Given the description of an element on the screen output the (x, y) to click on. 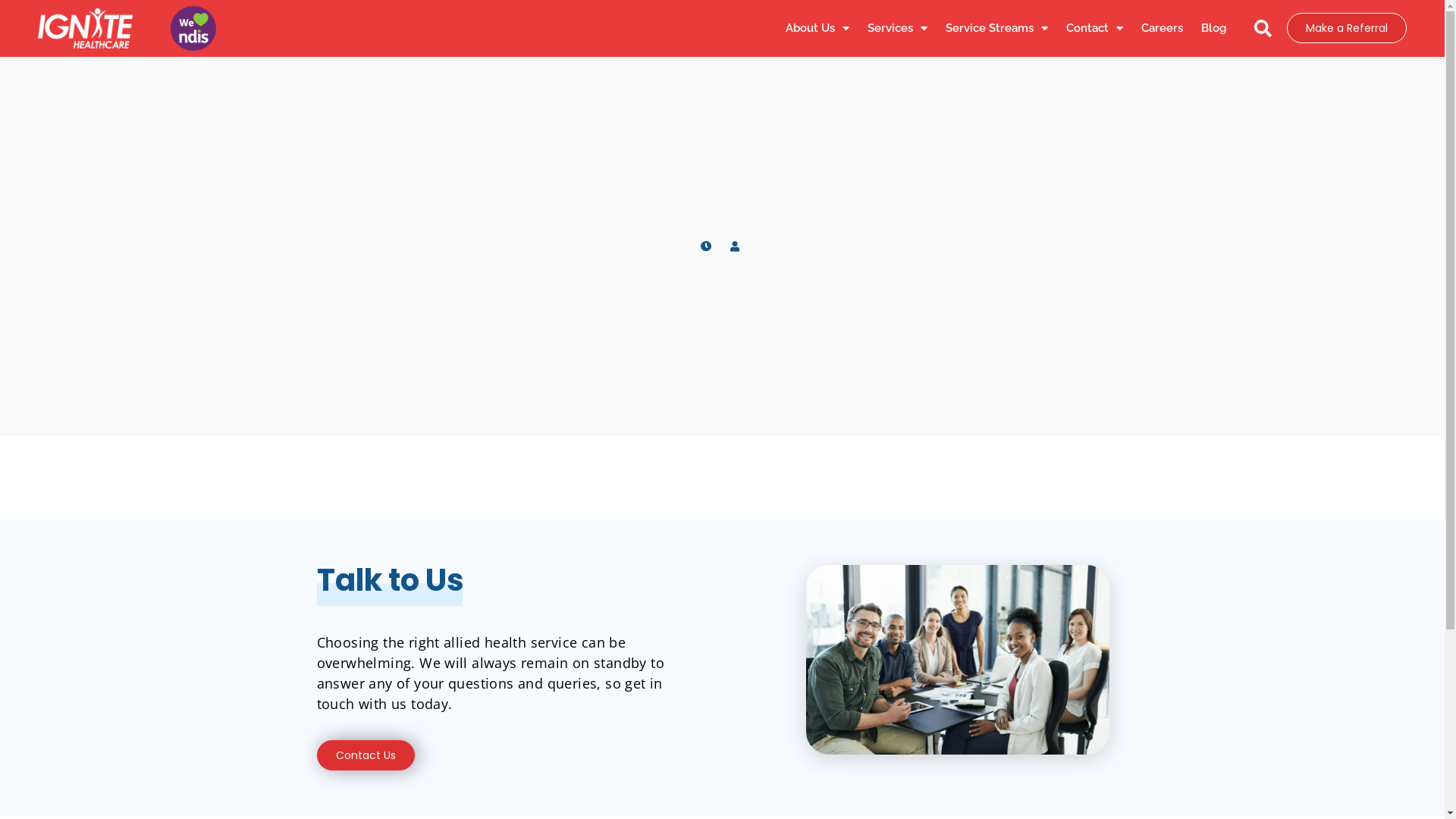
Careers Element type: text (1162, 27)
Make a Referral Element type: text (1346, 27)
About Us Element type: text (817, 27)
Service Streams Element type: text (996, 27)
Blog Element type: text (1213, 27)
Services Element type: text (897, 27)
Contact Element type: text (1094, 27)
Contact Us Element type: text (365, 755)
